Given the description of an element on the screen output the (x, y) to click on. 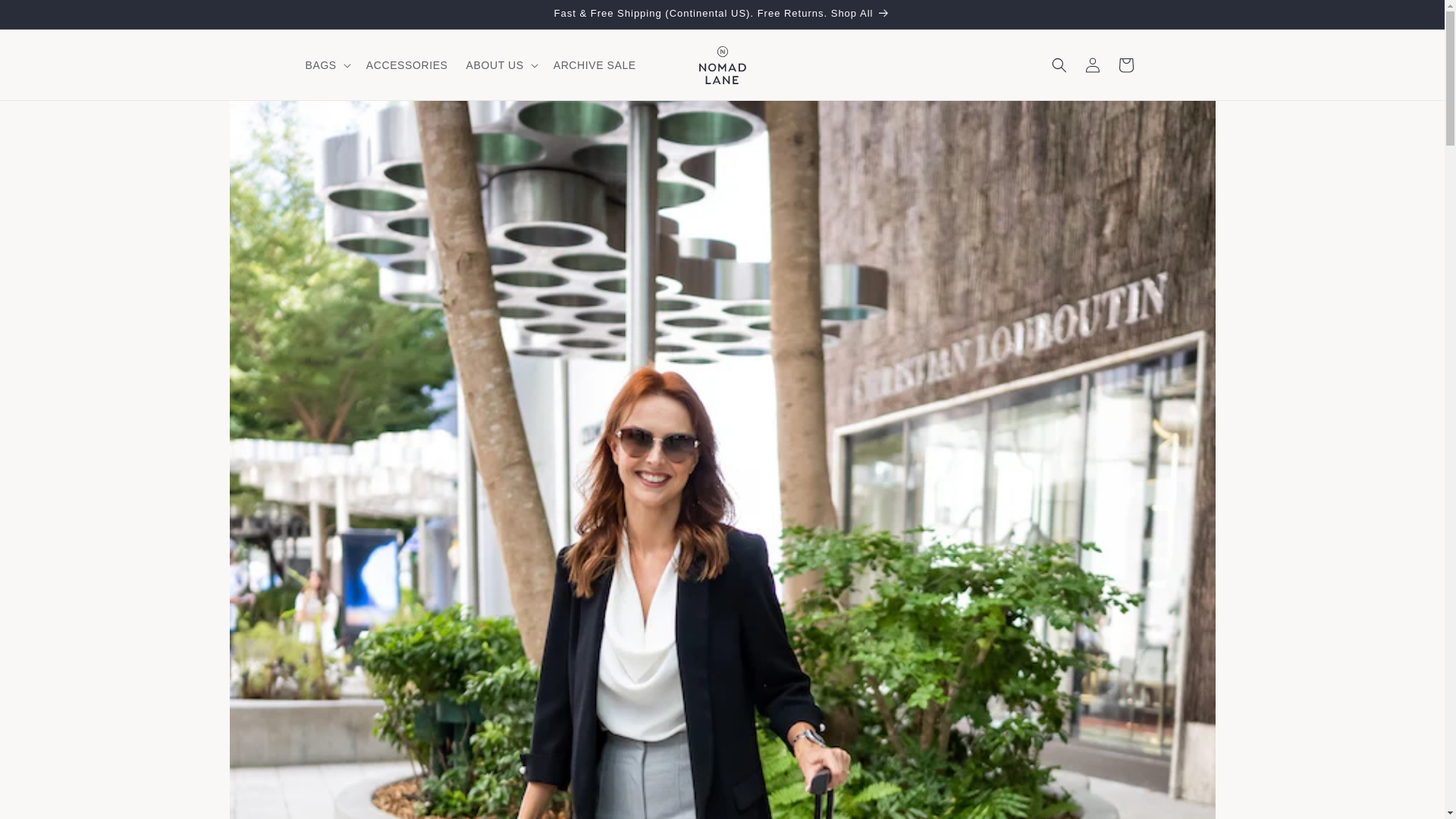
ACCESSORIES (406, 65)
Log in (1091, 64)
Cart (1124, 64)
Skip to content (45, 17)
ARCHIVE SALE (594, 65)
